Given the description of an element on the screen output the (x, y) to click on. 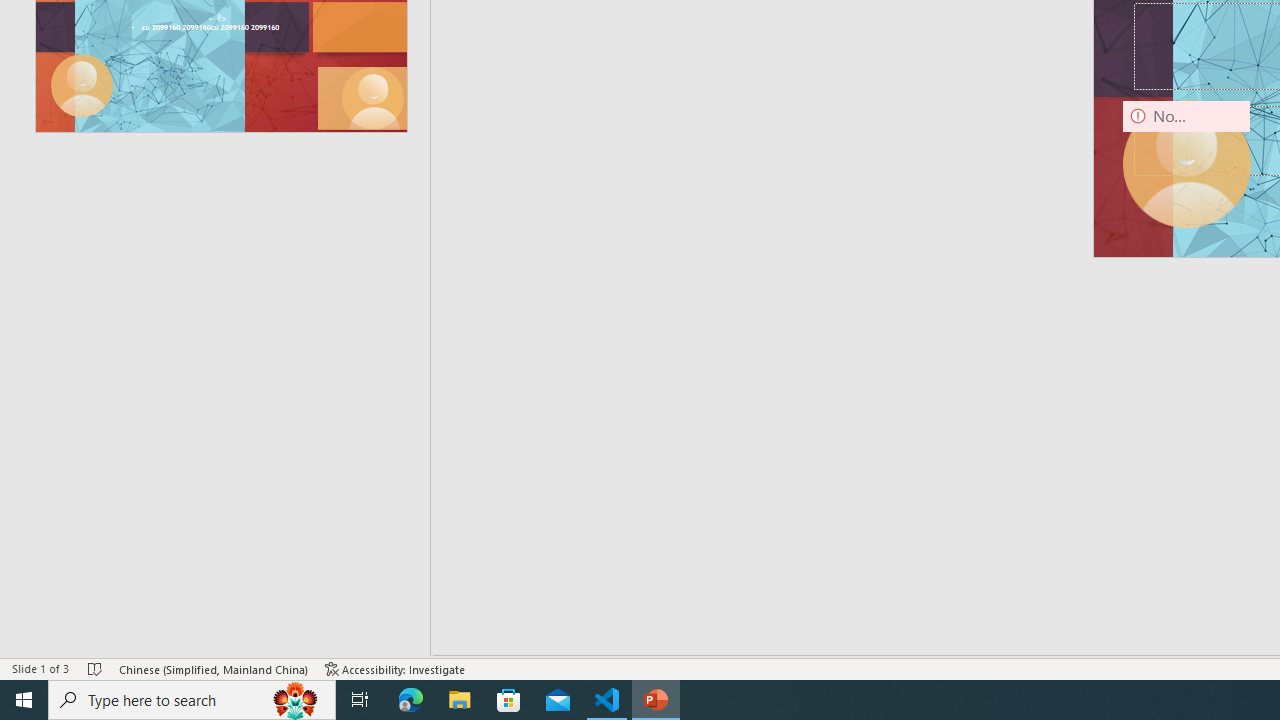
Camera 9, No camera detected. (1186, 164)
